Given the description of an element on the screen output the (x, y) to click on. 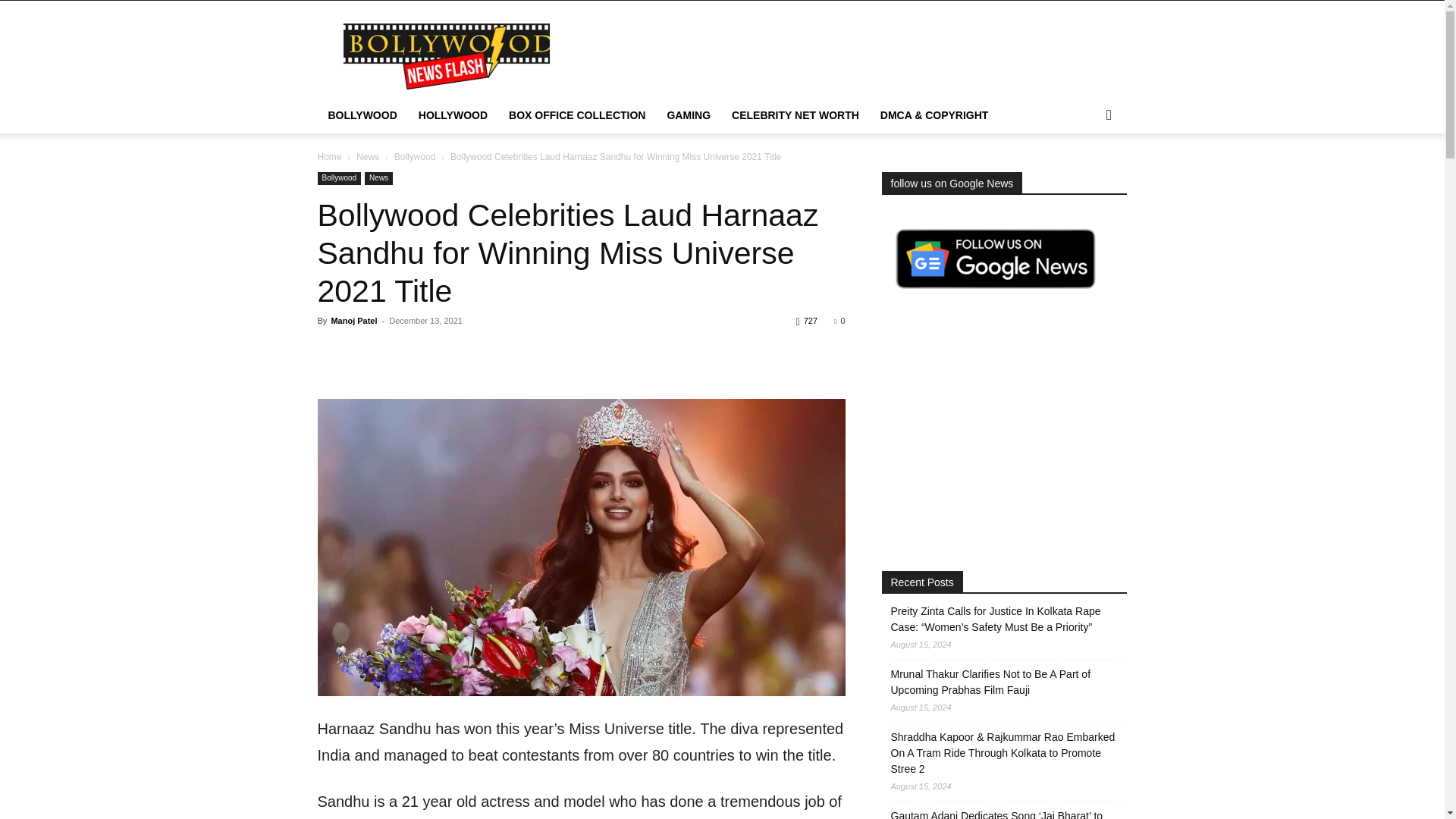
HOLLYWOOD (452, 115)
BOLLYWOOD (362, 115)
Bollywood (339, 178)
Bollywood (414, 156)
Manoj Patel (353, 320)
News (367, 156)
View all posts in News (367, 156)
0 (839, 320)
GAMING (688, 115)
View all posts in Bollywood (414, 156)
